Given the description of an element on the screen output the (x, y) to click on. 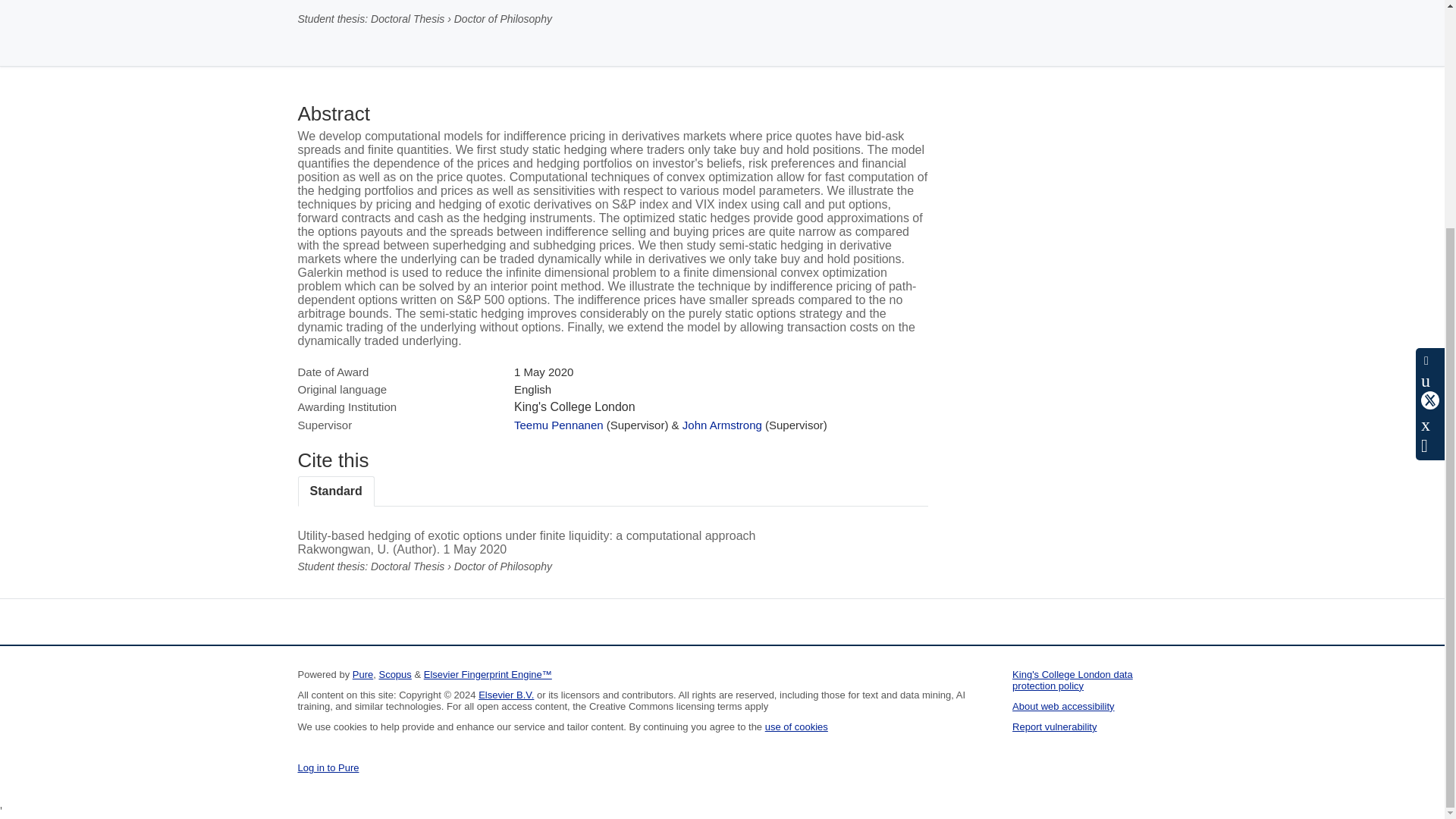
Mathematics (331, 0)
Report vulnerability (1053, 726)
Log in to Pure (327, 767)
King's College London data protection policy (1071, 680)
use of cookies (796, 726)
Teemu Pennanen (558, 424)
About web accessibility (1062, 706)
Elsevier B.V. (506, 695)
Scopus (394, 674)
Pure (362, 674)
John Armstrong (721, 424)
